Given the description of an element on the screen output the (x, y) to click on. 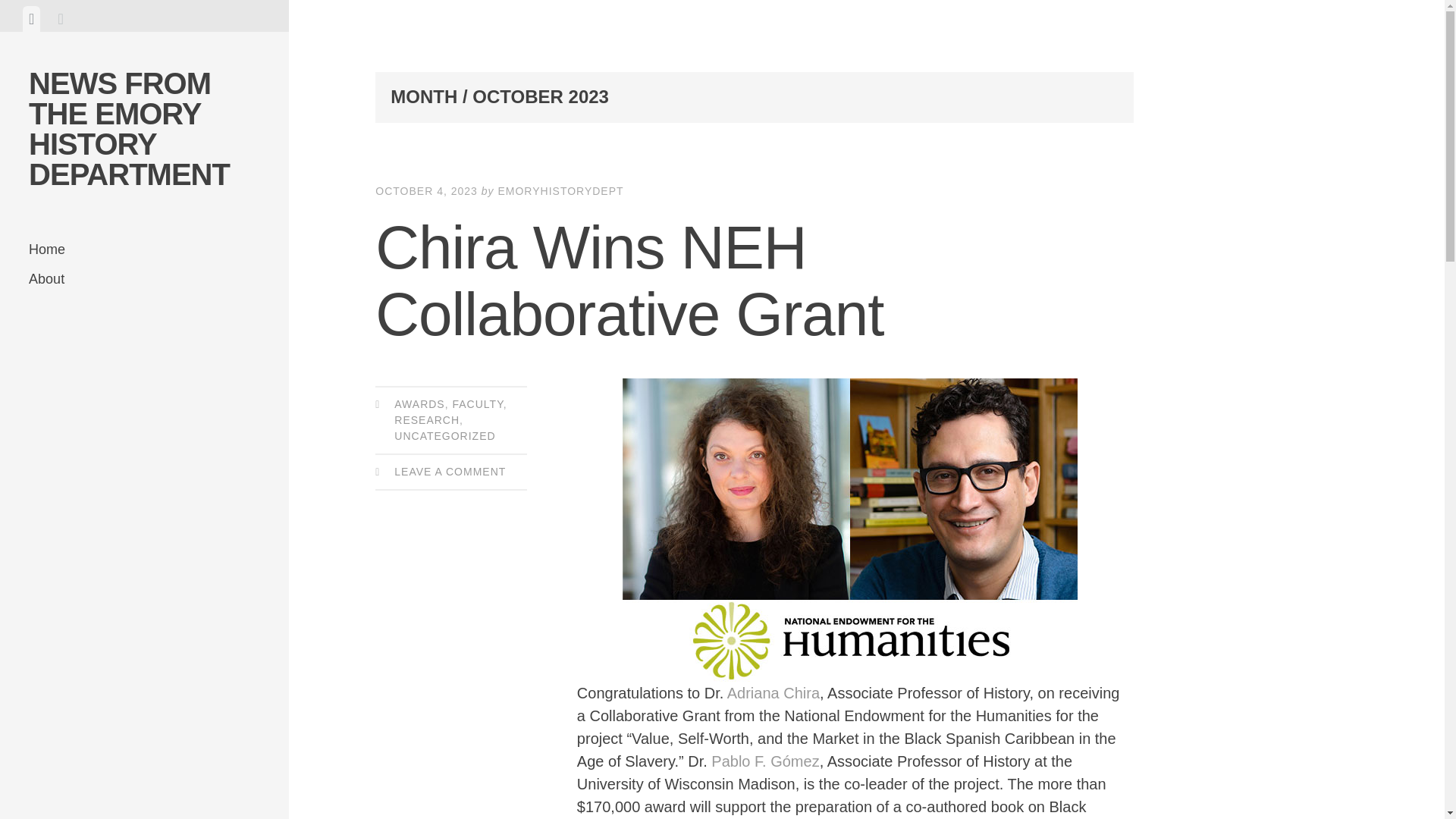
Home (144, 249)
About (144, 279)
NEWS FROM THE EMORY HISTORY DEPARTMENT (129, 128)
